Given the description of an element on the screen output the (x, y) to click on. 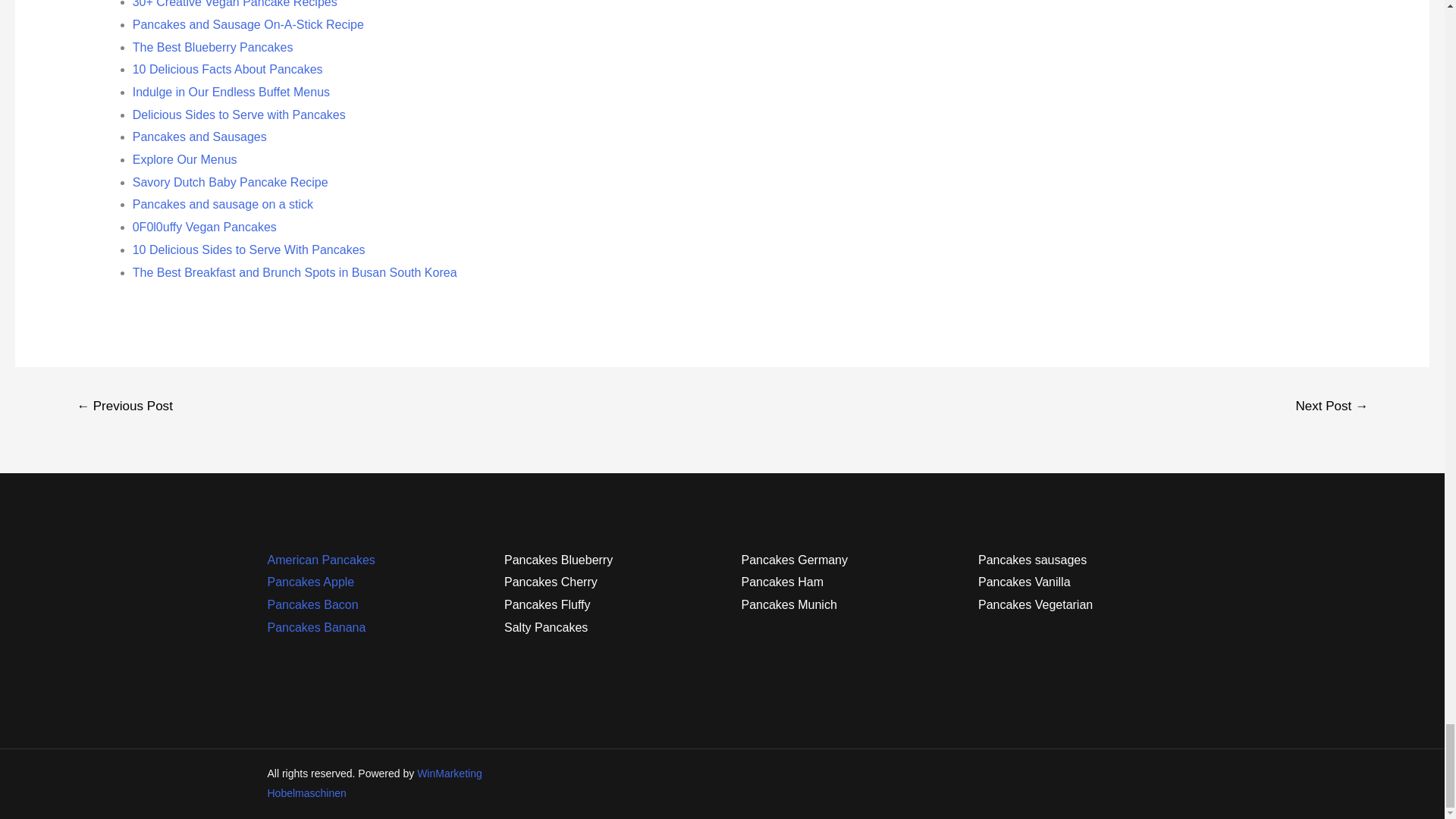
Pancakes Blueberry (557, 559)
Pancakes and Sausage On-A-Stick Recipe (248, 24)
10 Delicious Sides to Serve With Pancakes (248, 249)
Pancakes and sausage on a stick (222, 204)
Pancakes Germany (794, 559)
The Best Breakfast and Brunch Spots in Busan South Korea (294, 272)
10 Delicious Facts About Pancakes (227, 69)
Savory Dutch Baby Pancake Recipe (230, 182)
Explore Our Menus (184, 159)
Pancakes and Sausages (199, 136)
